Given the description of an element on the screen output the (x, y) to click on. 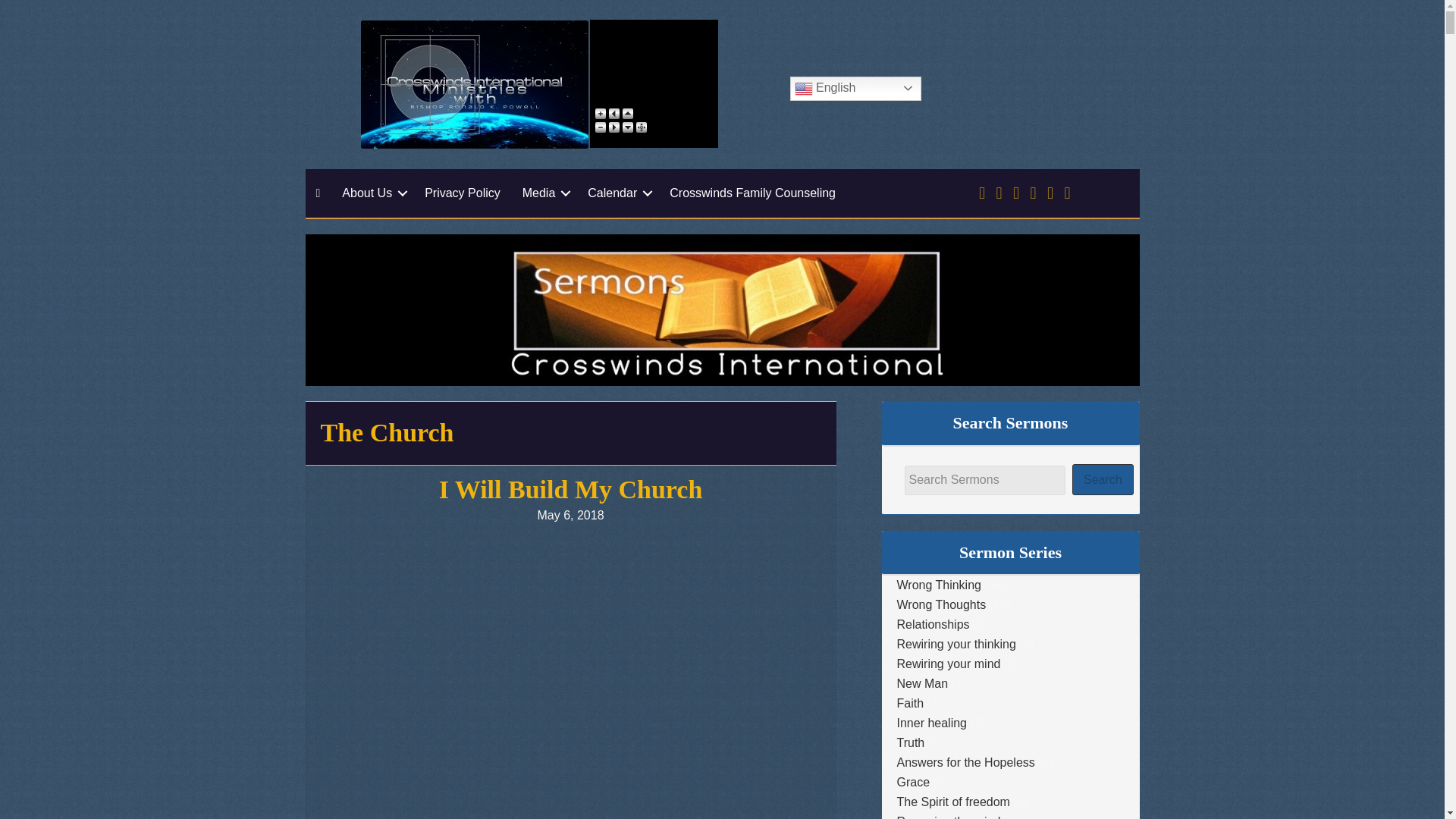
Crosswinds Family Counseling (752, 192)
About Us (372, 192)
Calendar (617, 192)
English (855, 87)
cwintro (474, 84)
Privacy Policy (462, 192)
Search (1102, 479)
Media (544, 192)
Search Sermons (984, 480)
Search Sermons (984, 480)
